Given the description of an element on the screen output the (x, y) to click on. 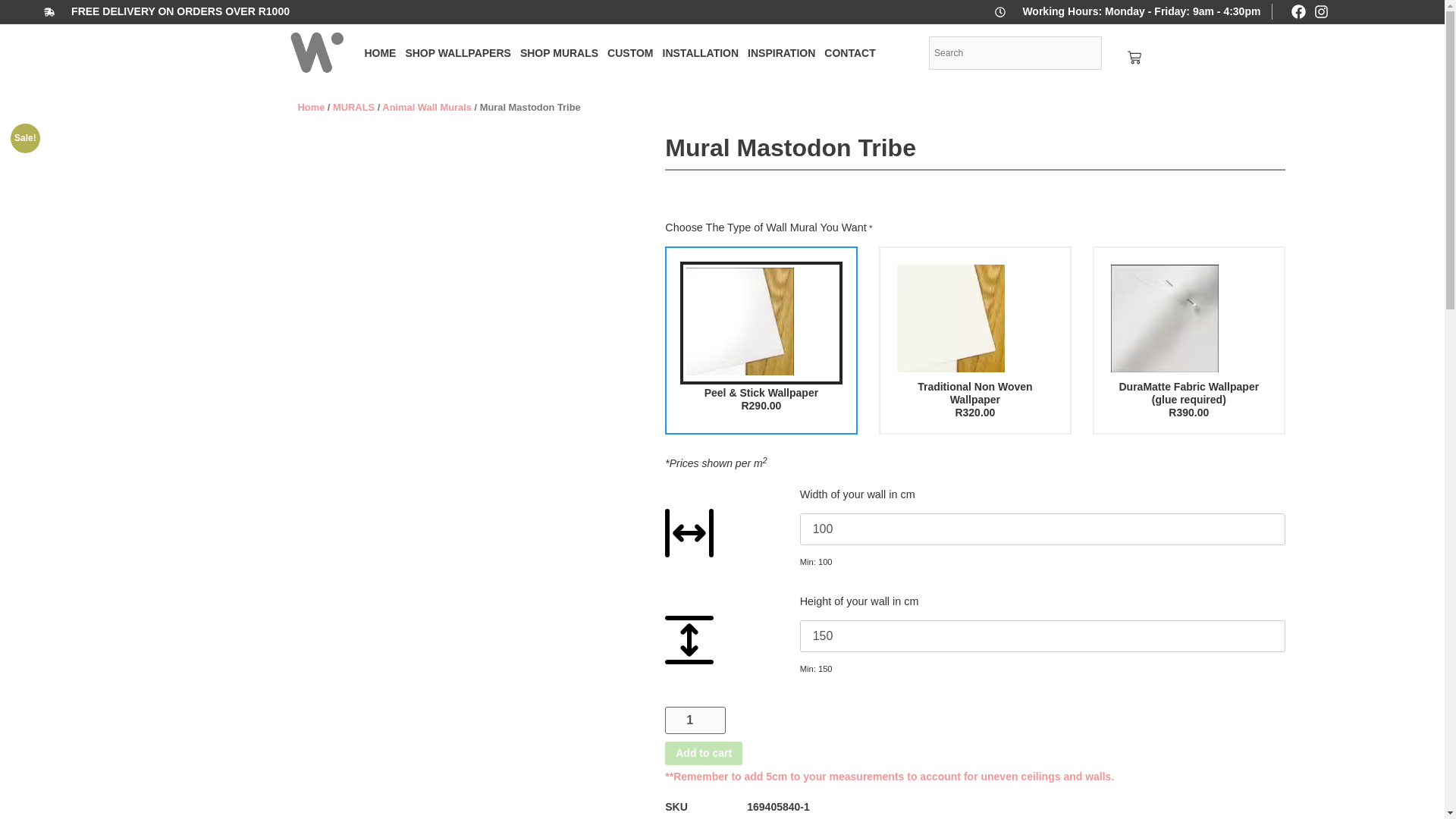
SHOP MURALS (558, 52)
100 (1042, 529)
INSTALLATION (701, 52)
150 (1042, 635)
Screenshot-2023-03-12-at-11.58.22 (760, 322)
WhatsApp Image 2023-07-04 at 11.58.40 (974, 319)
Screenshot-2023-03-12-at-11.58.09 (1188, 319)
1 (695, 719)
SHOP WALLPAPERS (457, 52)
HOME (379, 52)
CUSTOM (630, 52)
